Given the description of an element on the screen output the (x, y) to click on. 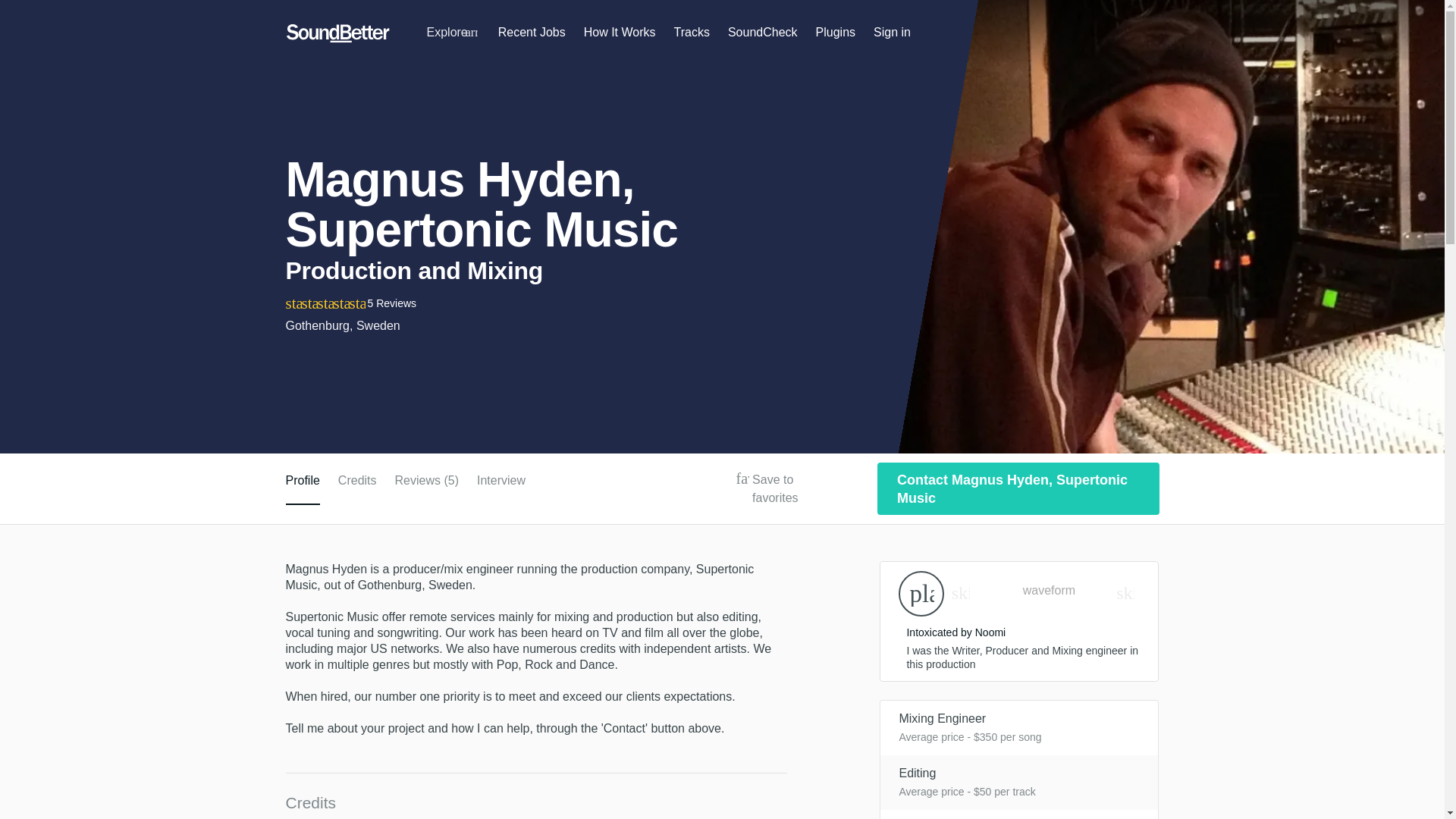
SoundBetter (337, 33)
